Given the description of an element on the screen output the (x, y) to click on. 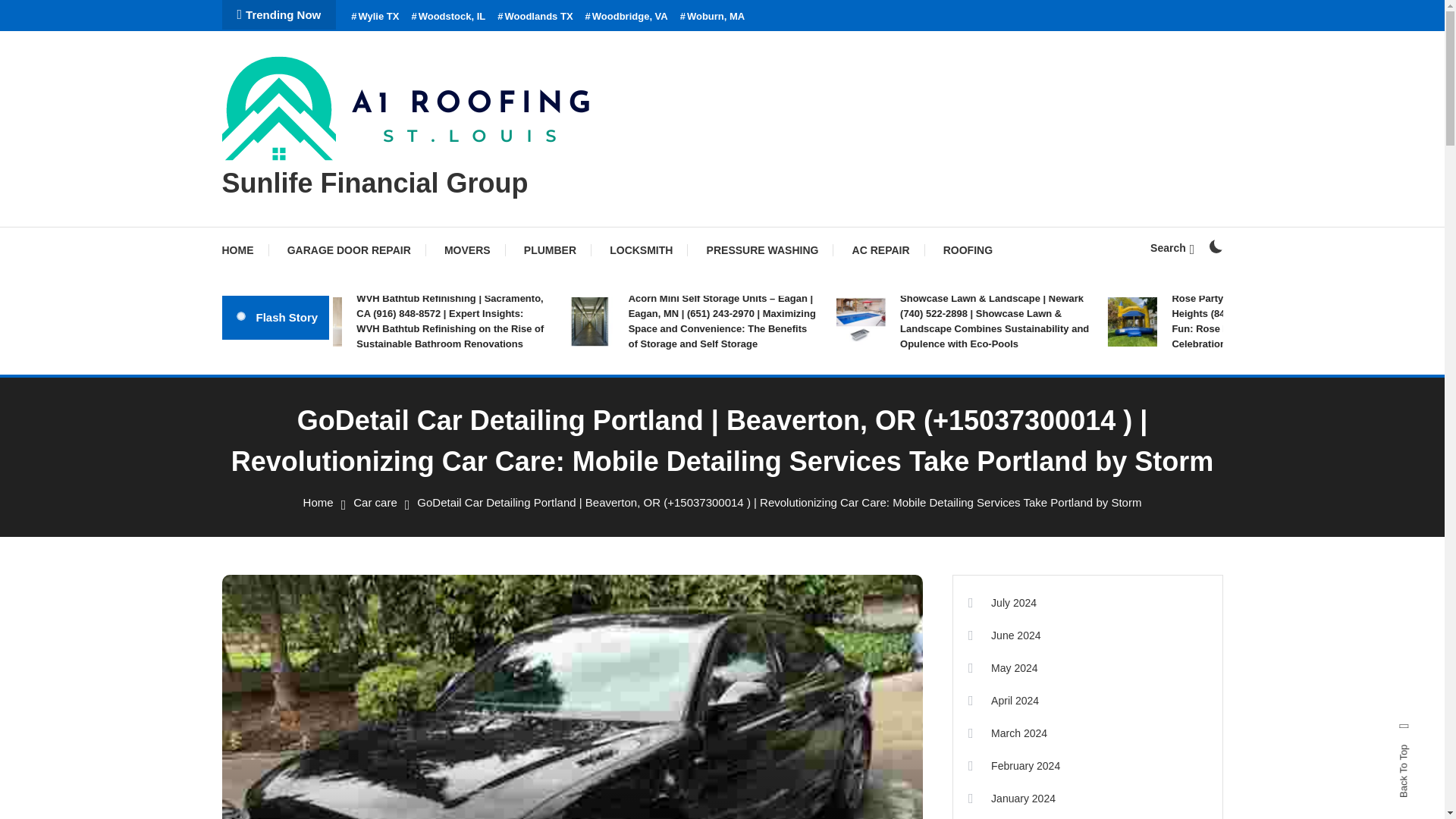
on (1215, 246)
Wylie TX (374, 16)
Home (317, 502)
GARAGE DOOR REPAIR (349, 249)
Search (768, 434)
Woodlands TX (534, 16)
Sunlife Financial Group (374, 183)
Woburn, MA (712, 16)
AC REPAIR (880, 249)
HOME (244, 249)
Search (1171, 247)
Car care (375, 502)
Woodbridge, VA (626, 16)
PRESSURE WASHING (762, 249)
ROOFING (967, 249)
